Given the description of an element on the screen output the (x, y) to click on. 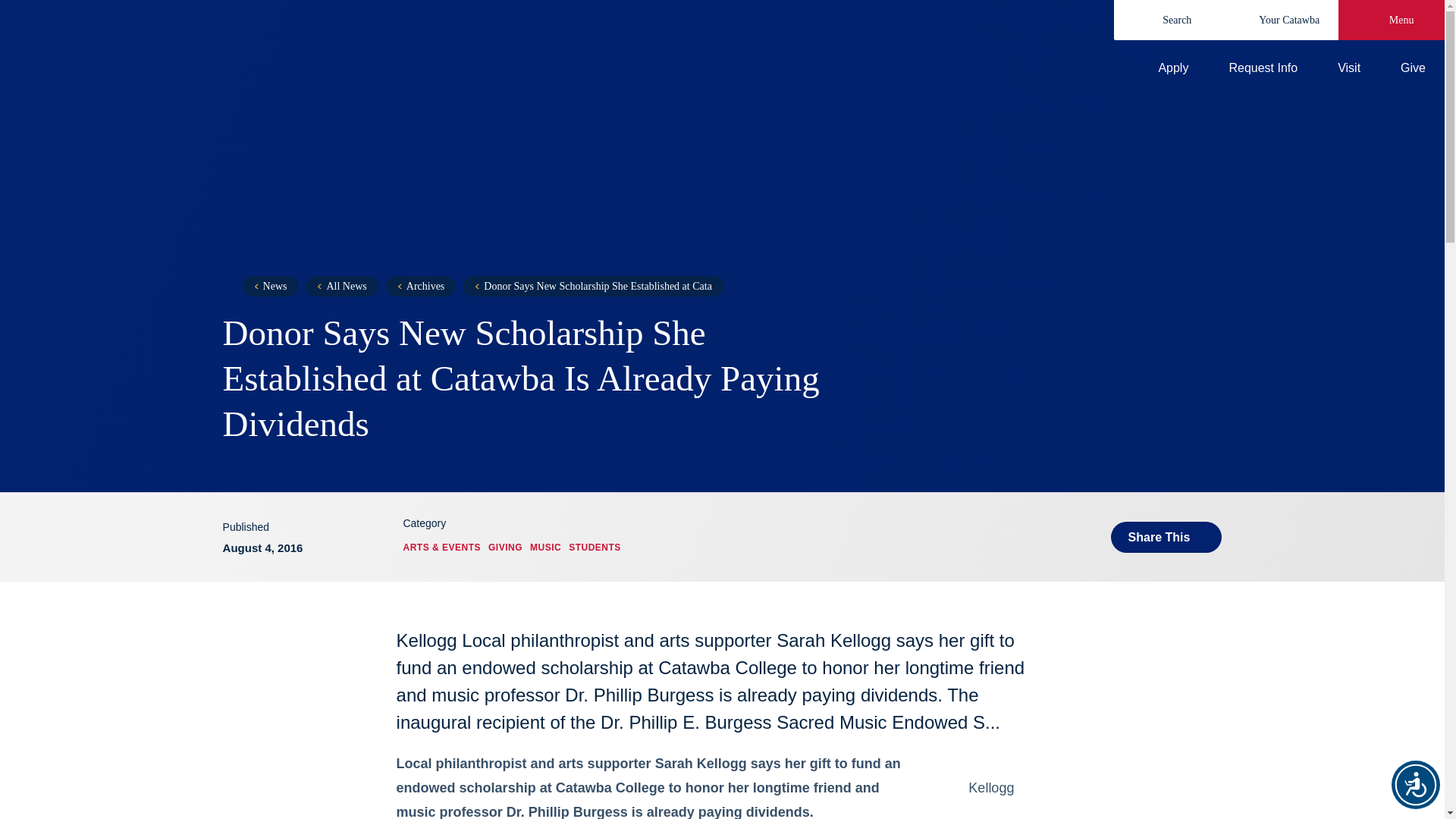
Apply (1160, 68)
Accessibility Menu (1415, 784)
News (270, 286)
Request Info (1250, 68)
Visit (1336, 68)
STUDENTS (595, 547)
Your Catawba (1279, 20)
All News (341, 286)
Share This (1166, 536)
Catawba College (374, 50)
